Given the description of an element on the screen output the (x, y) to click on. 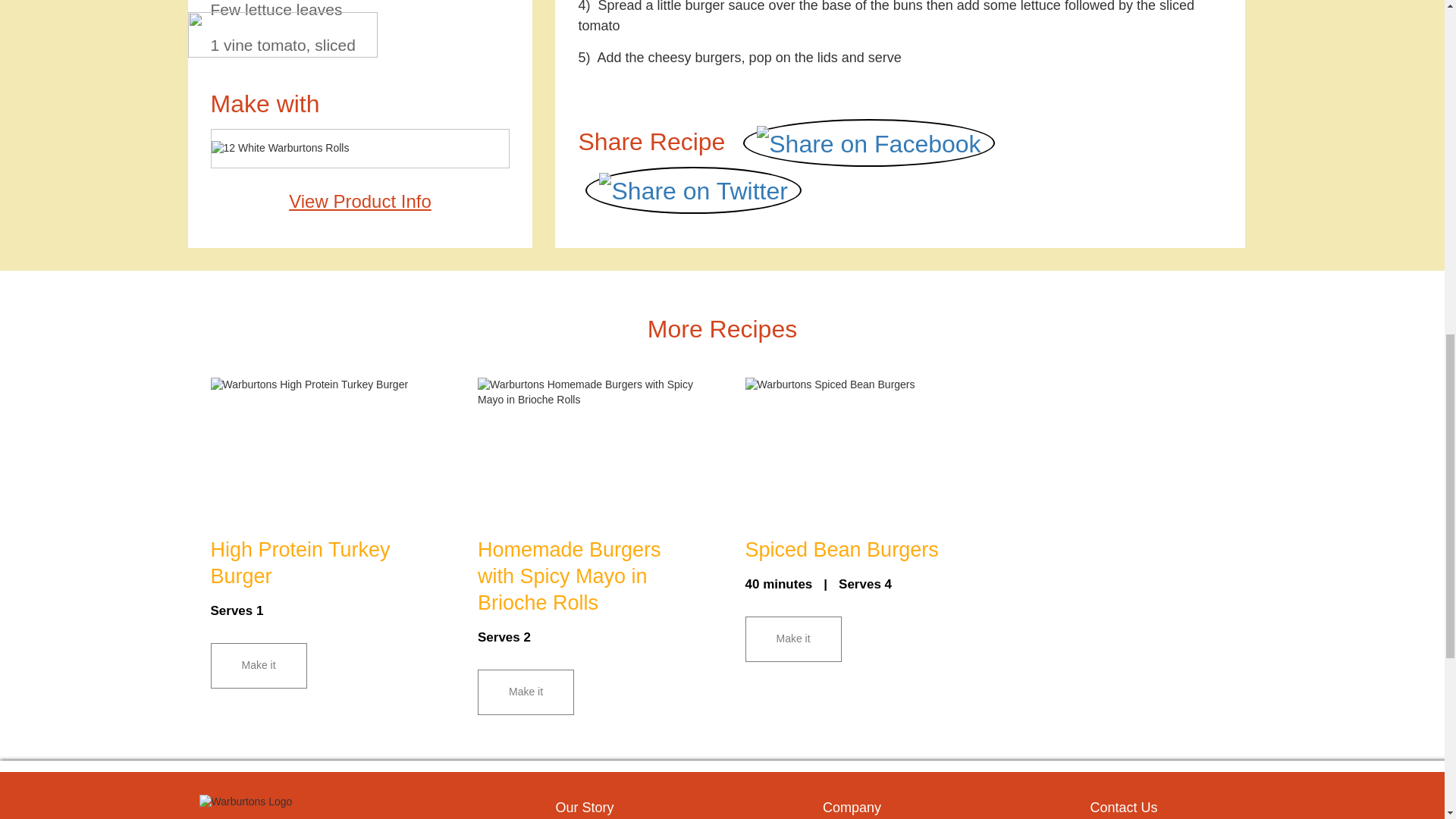
Make it (259, 665)
Send (716, 591)
View Product Info (359, 200)
Make it (525, 691)
